Given the description of an element on the screen output the (x, y) to click on. 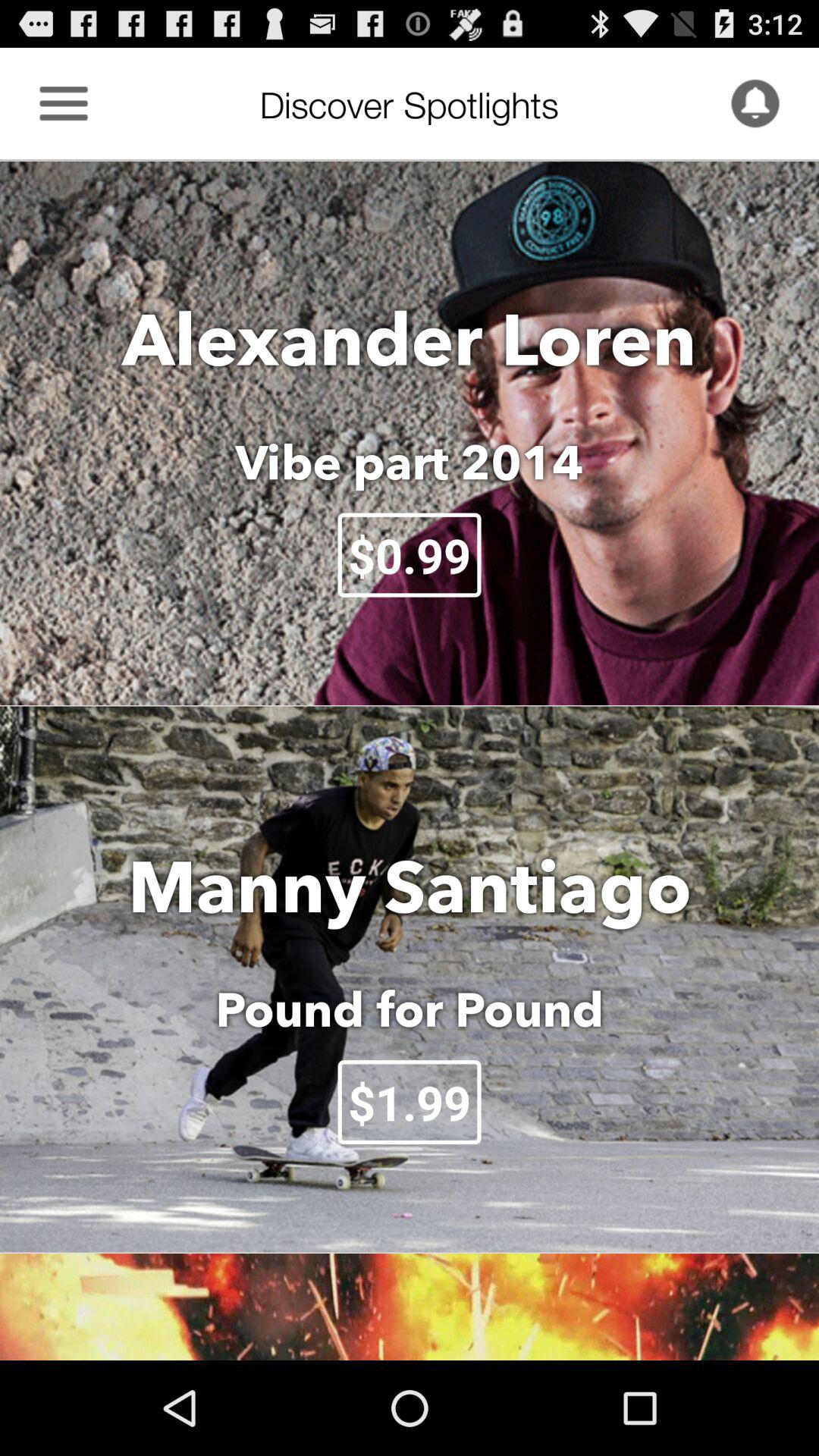
open the icon above the $1.99 app (409, 1008)
